Given the description of an element on the screen output the (x, y) to click on. 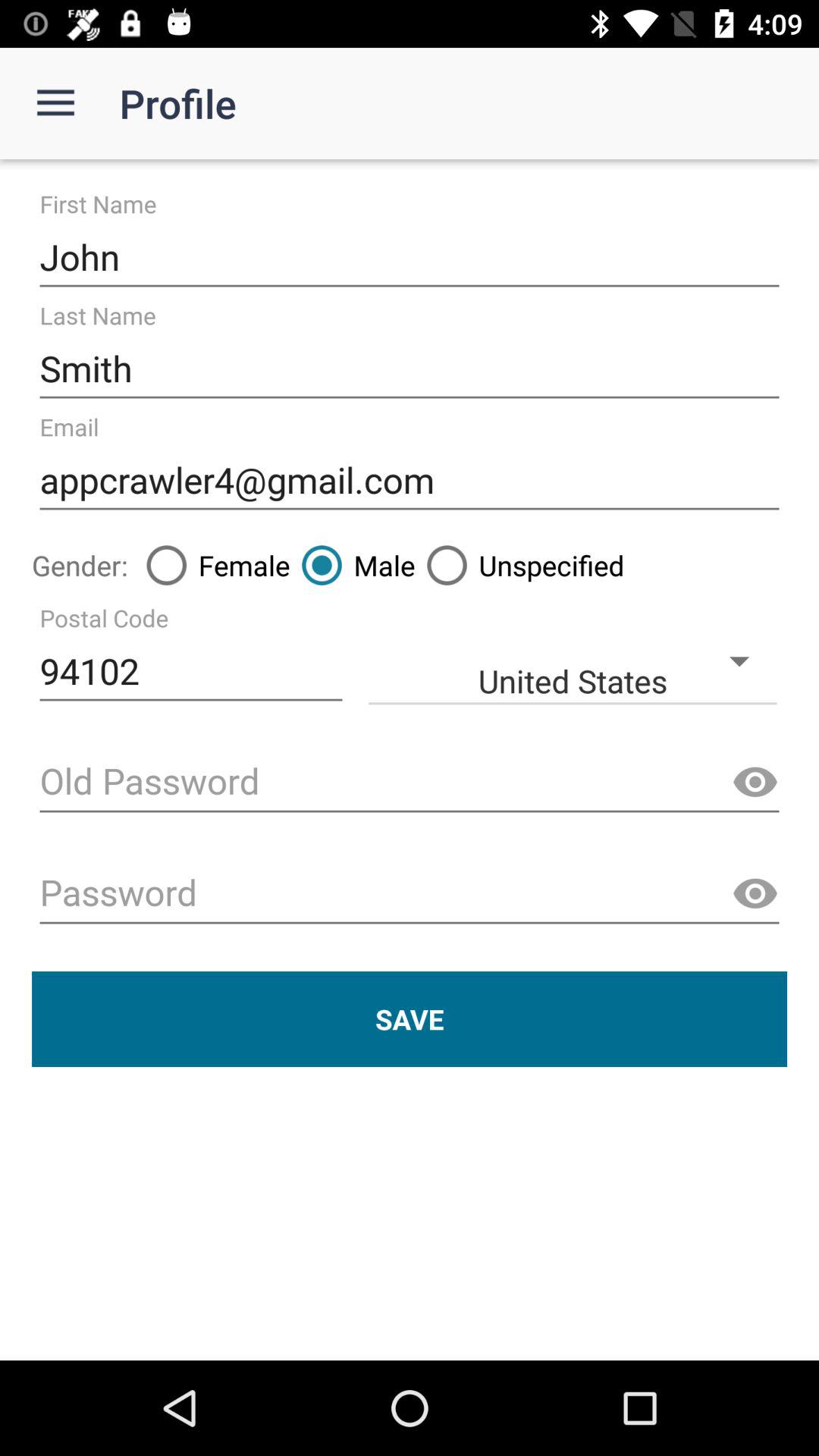
flip until appcrawler4@gmail.com item (409, 480)
